Given the description of an element on the screen output the (x, y) to click on. 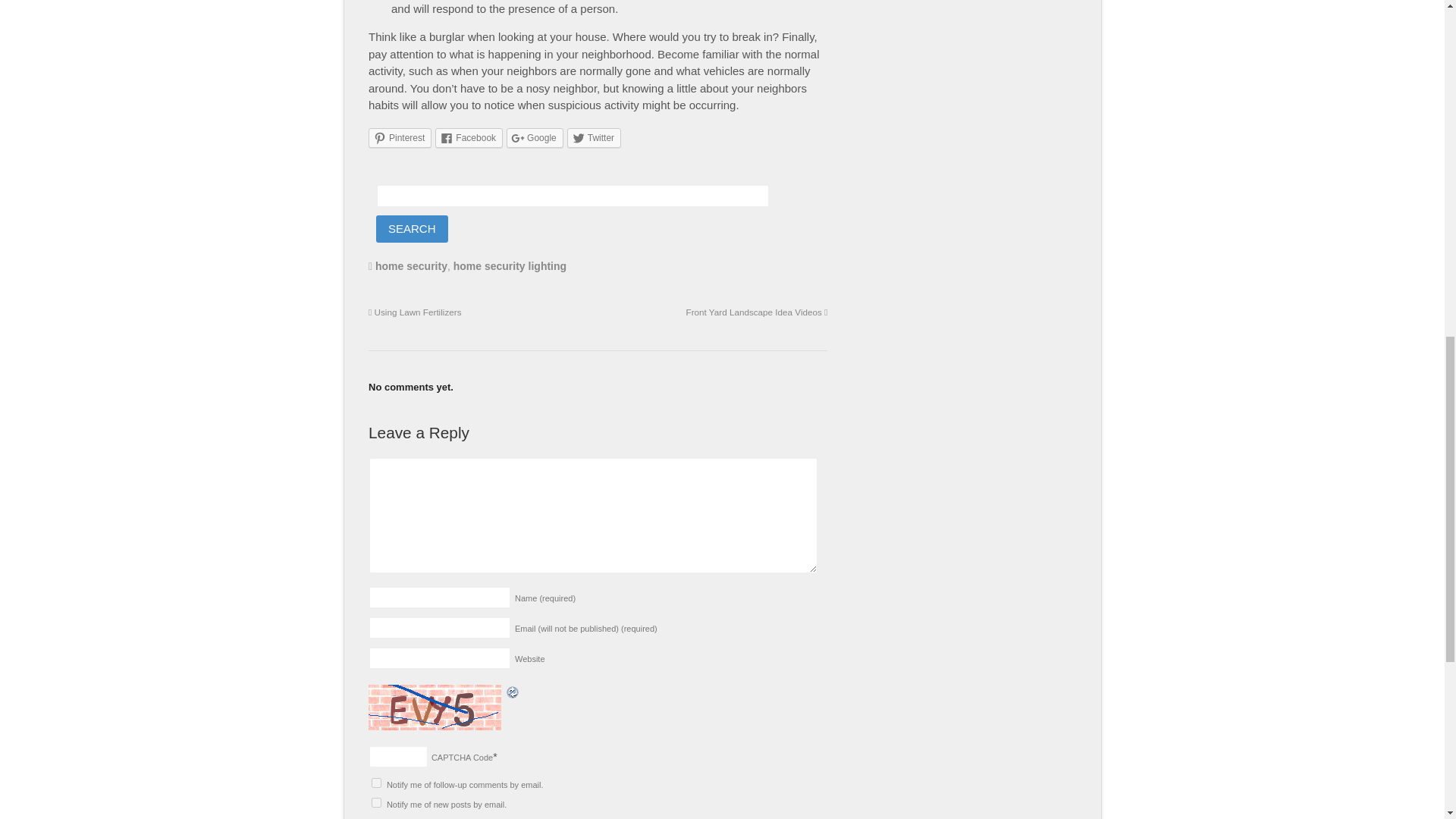
Click to share on Pinterest (399, 137)
home security lighting (509, 265)
Pinterest (399, 137)
Click to share on Facebook (468, 137)
home security (410, 265)
Using Lawn Fertilizers (414, 311)
subscribe (376, 782)
Search (411, 228)
Click to share on Twitter (594, 137)
Refresh Image (513, 691)
CAPTCHA Image (436, 707)
Google (534, 137)
Facebook (468, 137)
subscribe (376, 802)
Twitter (594, 137)
